Given the description of an element on the screen output the (x, y) to click on. 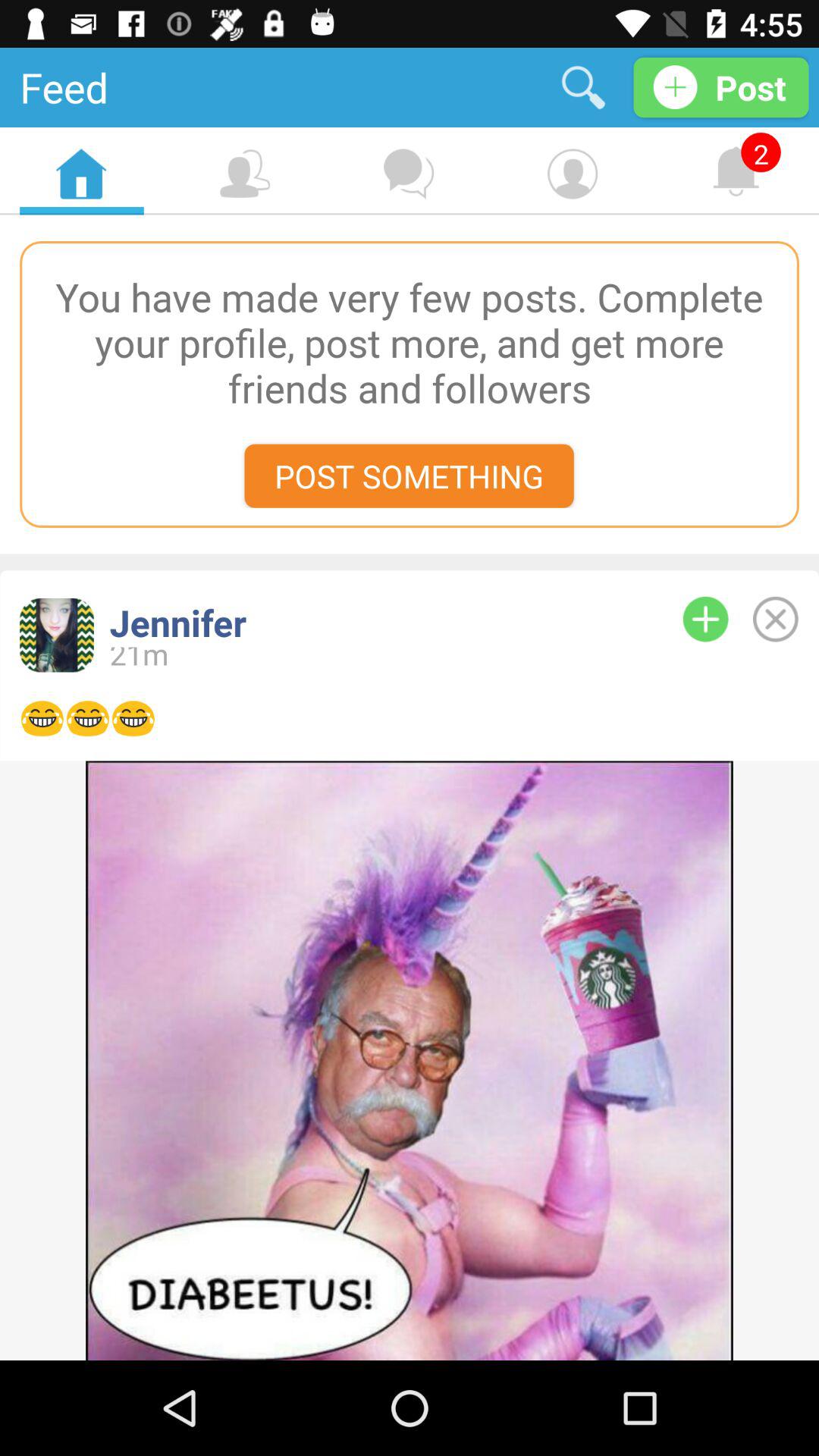
close post (775, 619)
